Given the description of an element on the screen output the (x, y) to click on. 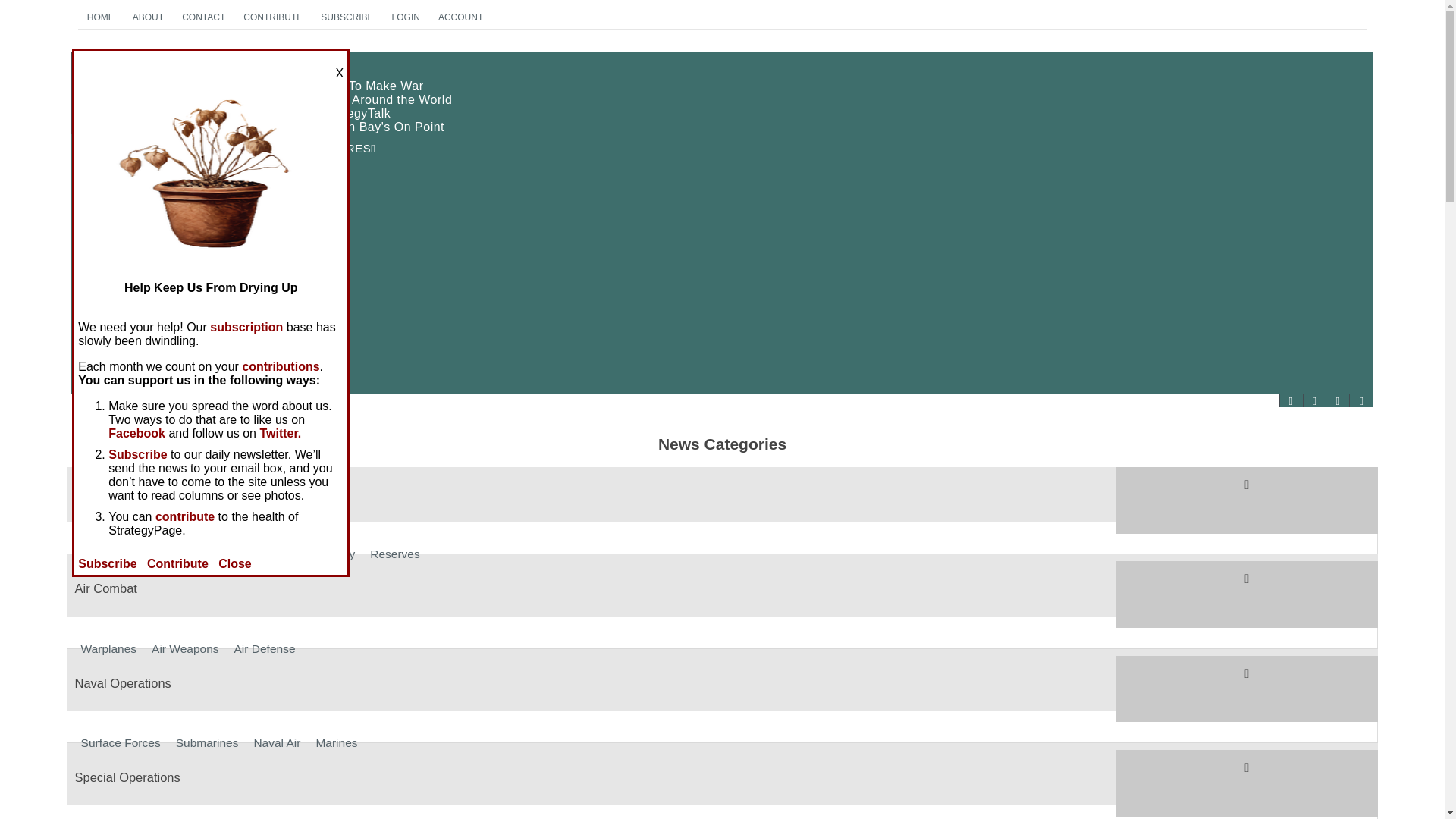
SUBSCRIBE (346, 16)
PHOTOS (722, 230)
Today in Military History (151, 277)
Al Nofi's CIC (119, 181)
Military Book Reviews (146, 195)
Chiefs's Wargames In Review (167, 168)
Login (98, 345)
ABOUT (148, 16)
Account (105, 332)
About (99, 373)
